Given the description of an element on the screen output the (x, y) to click on. 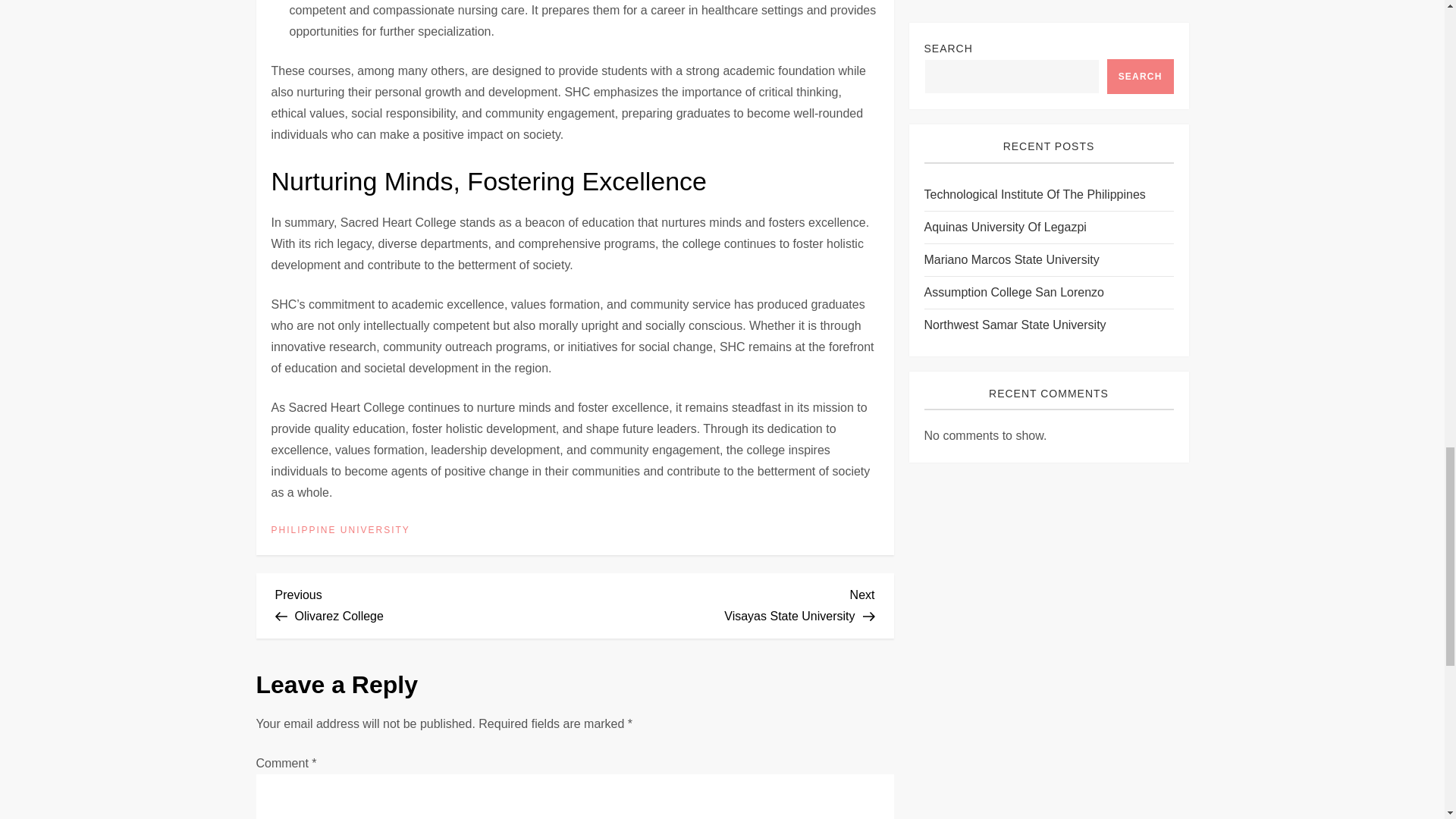
PHILIPPINE UNIVERSITY (425, 603)
